Given the description of an element on the screen output the (x, y) to click on. 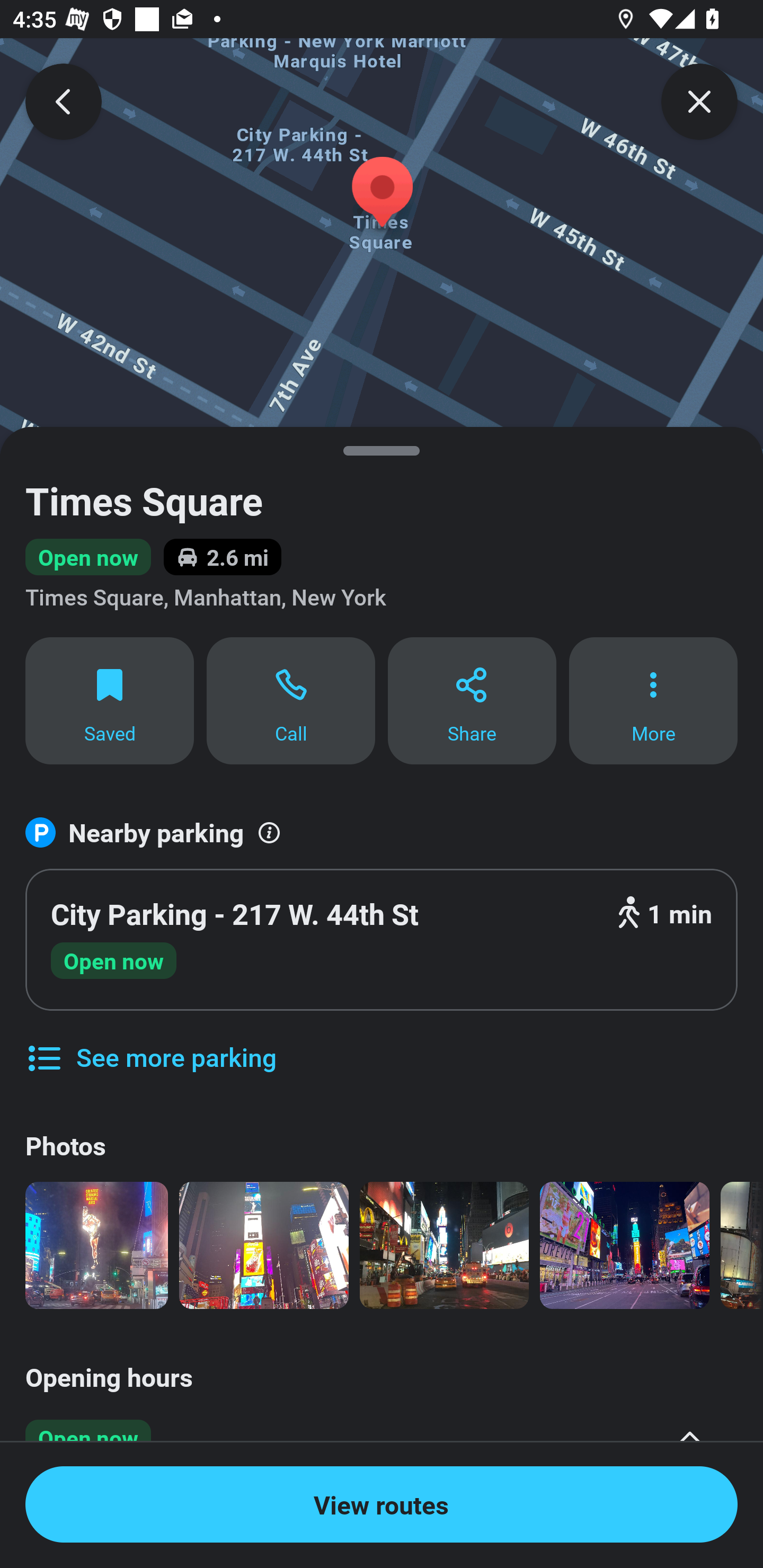
Saved (109, 700)
Call (290, 700)
Share (471, 700)
More (653, 700)
City Parking - 217 W. 44th St 1 min Open now (381, 939)
See more parking (150, 1043)
View routes (381, 1504)
